Given the description of an element on the screen output the (x, y) to click on. 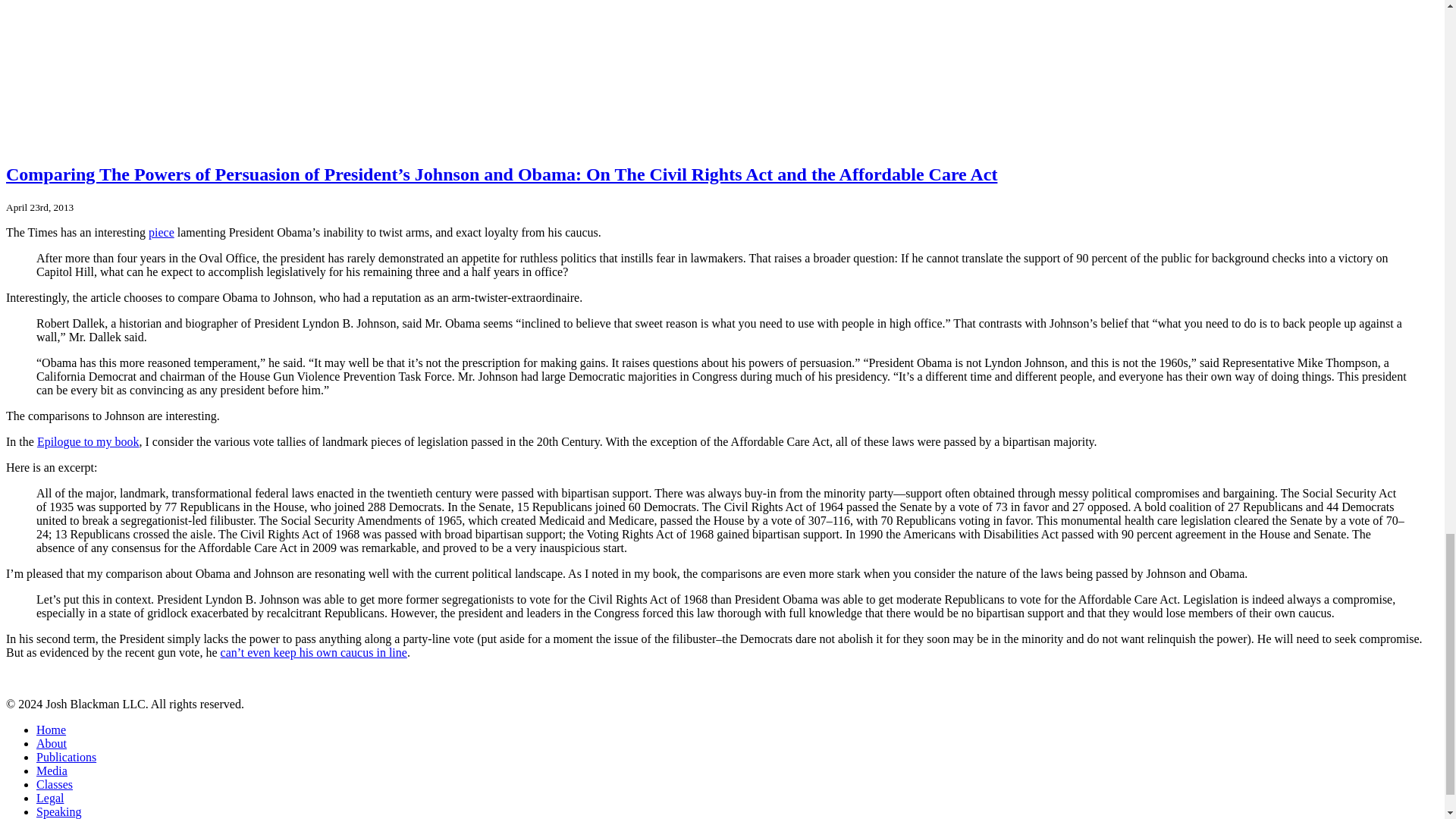
Publications (66, 757)
Speaking (58, 811)
Classes (54, 784)
Epilogue to my book (88, 440)
About (51, 743)
Media (51, 770)
Legal (50, 797)
Home (50, 729)
piece (161, 232)
